Given the description of an element on the screen output the (x, y) to click on. 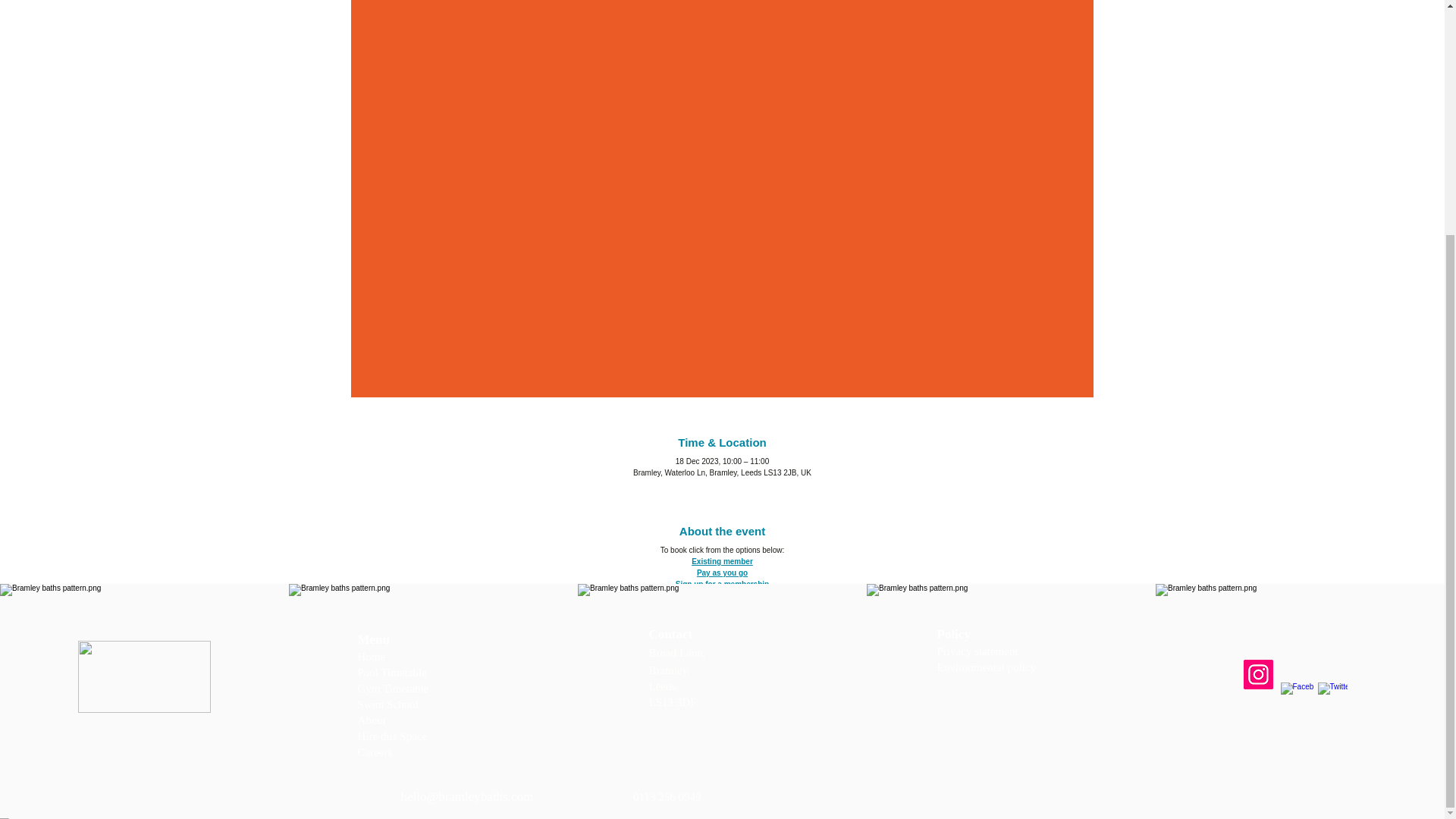
Pay as you go (722, 572)
Bramley Baths logo.png (143, 676)
Gym Timetable (393, 688)
Existing member (721, 561)
Privacy statement (977, 651)
Home (371, 656)
Careers (375, 752)
Sign up for a membership (721, 583)
Hire this Space (393, 736)
About  (373, 720)
Environmental policy (986, 666)
Swim School (388, 704)
Pool Timetable (392, 672)
